Given the description of an element on the screen output the (x, y) to click on. 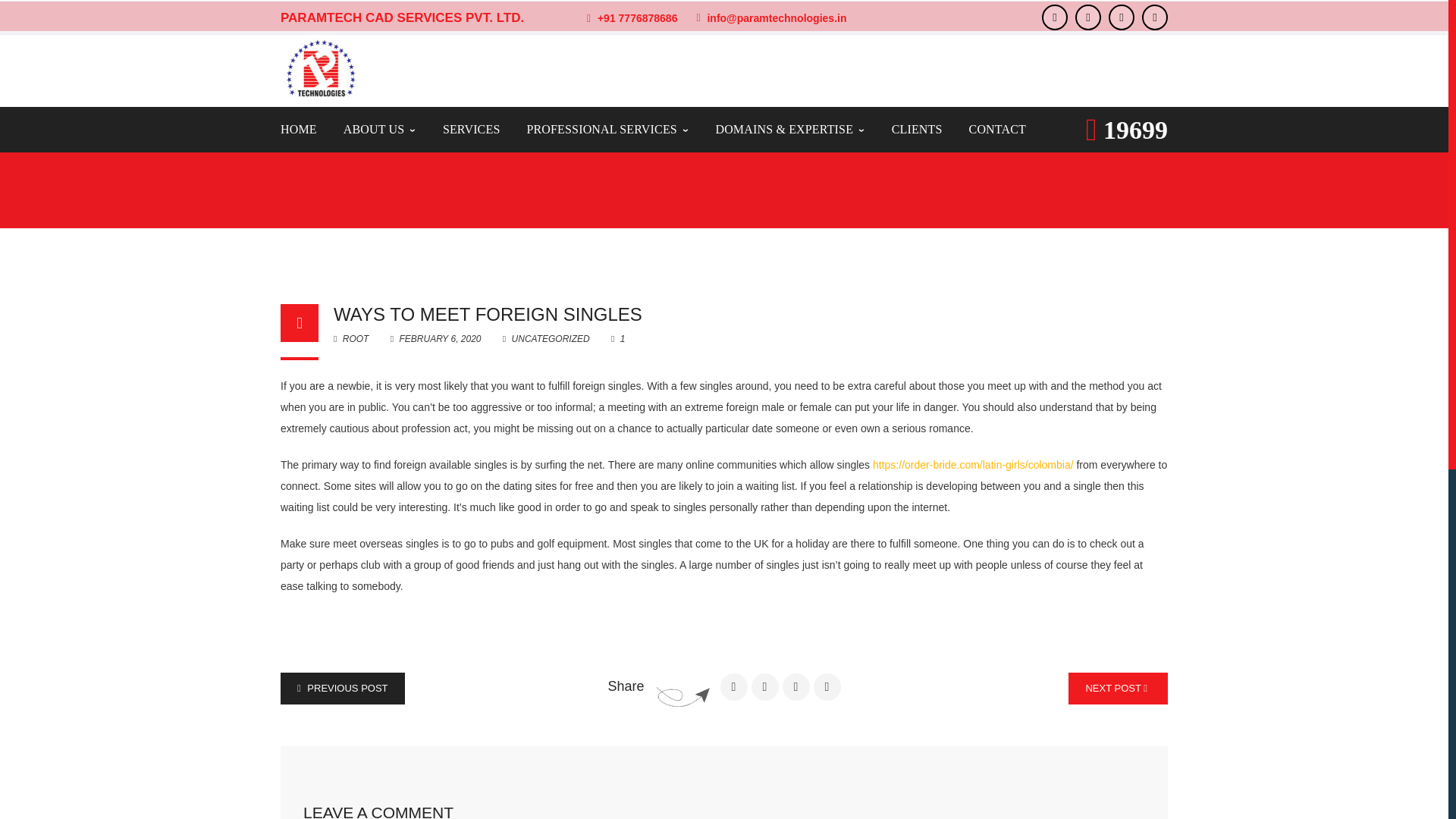
ABOUT US (379, 129)
ROOT (350, 338)
Uncategorized (347, 141)
Ways to Meet Foreign Singles (436, 338)
 -  (319, 68)
HOME (299, 129)
CLIENTS (916, 129)
FEBRUARY 6, 2020 (436, 338)
UNCATEGORIZED (347, 141)
CONTACT (997, 129)
Ways to Meet Foreign Singles (487, 313)
SERVICES (471, 129)
PROFESSIONAL SERVICES (606, 129)
WAYS TO MEET FOREIGN SINGLES (487, 313)
